Given the description of an element on the screen output the (x, y) to click on. 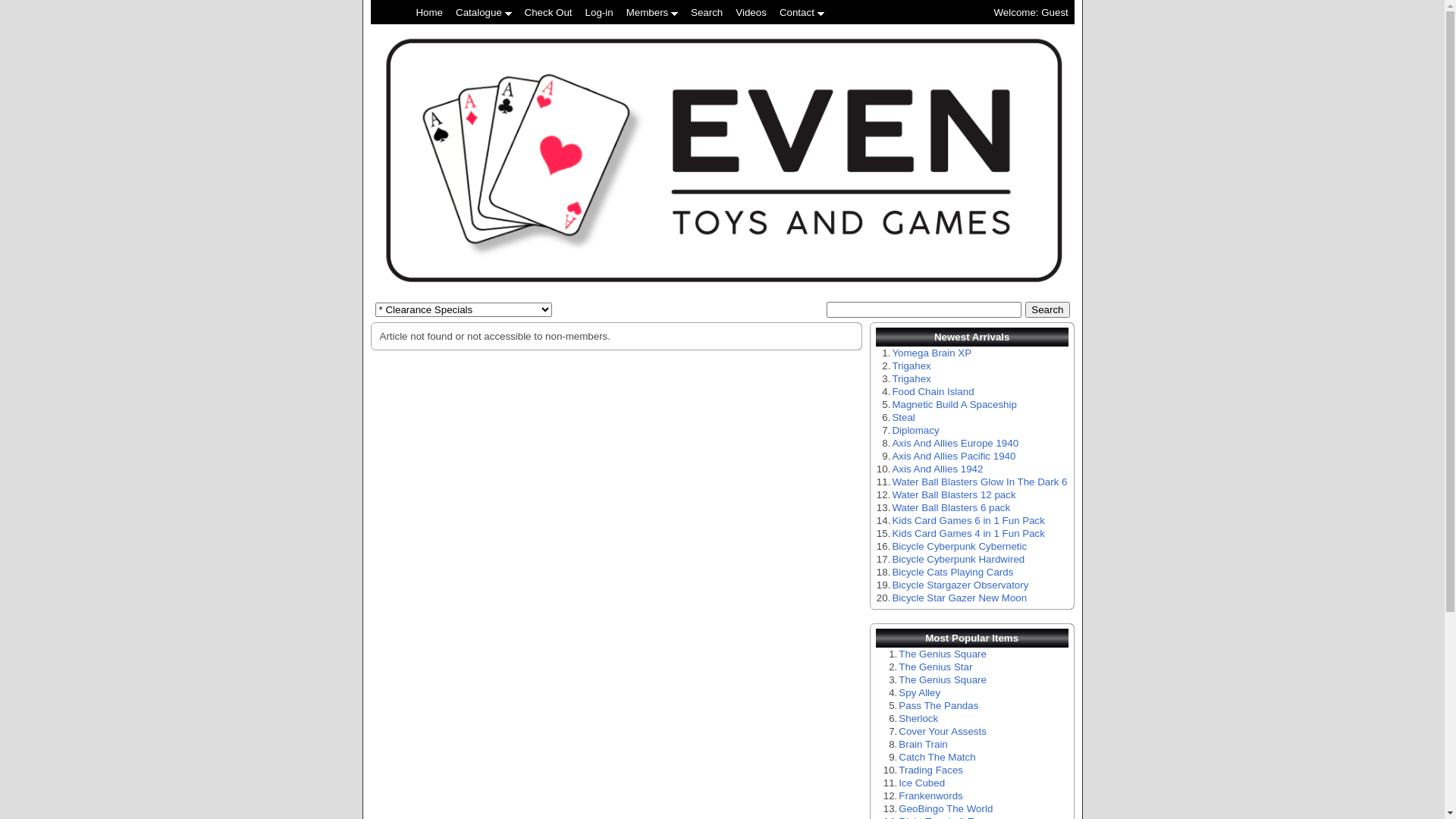
Bicycle Star Gazer New Moon Element type: text (958, 597)
Catch The Match Element type: text (936, 756)
The Genius Square Element type: text (942, 679)
Home Element type: text (429, 12)
Spy Alley Element type: text (919, 692)
Contact Element type: text (801, 12)
Videos Element type: text (750, 12)
Trigahex Element type: text (910, 365)
Trading Faces Element type: text (930, 769)
Food Chain Island Element type: text (932, 391)
Kids Card Games 4 in 1 Fun Pack Element type: text (967, 533)
Catalogue Element type: text (483, 12)
Search Element type: text (1047, 309)
Frankenwords Element type: text (930, 795)
Bicycle Stargazer Observatory Element type: text (959, 584)
Cover Your Assests Element type: text (942, 731)
Bicycle Cyberpunk Cybernetic Element type: text (958, 546)
Water Ball Blasters 12 pack Element type: text (953, 494)
Axis And Allies Europe 1940 Element type: text (954, 442)
Search Element type: text (706, 12)
The Genius Star Element type: text (935, 666)
Ice Cubed Element type: text (921, 782)
GeoBingo The World Element type: text (945, 808)
Yomega Brain XP Element type: text (931, 352)
Log-in Element type: text (599, 12)
Sherlock Element type: text (918, 718)
Axis And Allies Pacific 1940 Element type: text (953, 455)
Steal Element type: text (902, 417)
Water Ball Blasters 6 pack Element type: text (950, 507)
Axis And Allies 1942 Element type: text (936, 468)
Water Ball Blasters Glow In The Dark 6 Element type: text (978, 481)
Kids Card Games 6 in 1 Fun Pack Element type: text (967, 520)
Trigahex Element type: text (910, 378)
Check Out Element type: text (548, 12)
The Genius Square Element type: text (942, 653)
Bicycle Cyberpunk Hardwired Element type: text (957, 558)
Diplomacy Element type: text (914, 430)
Brain Train Element type: text (922, 743)
Bicycle Cats Playing Cards Element type: text (952, 571)
Members Element type: text (652, 12)
Magnetic Build A Spaceship Element type: text (953, 404)
Pass The Pandas Element type: text (938, 705)
